Given the description of an element on the screen output the (x, y) to click on. 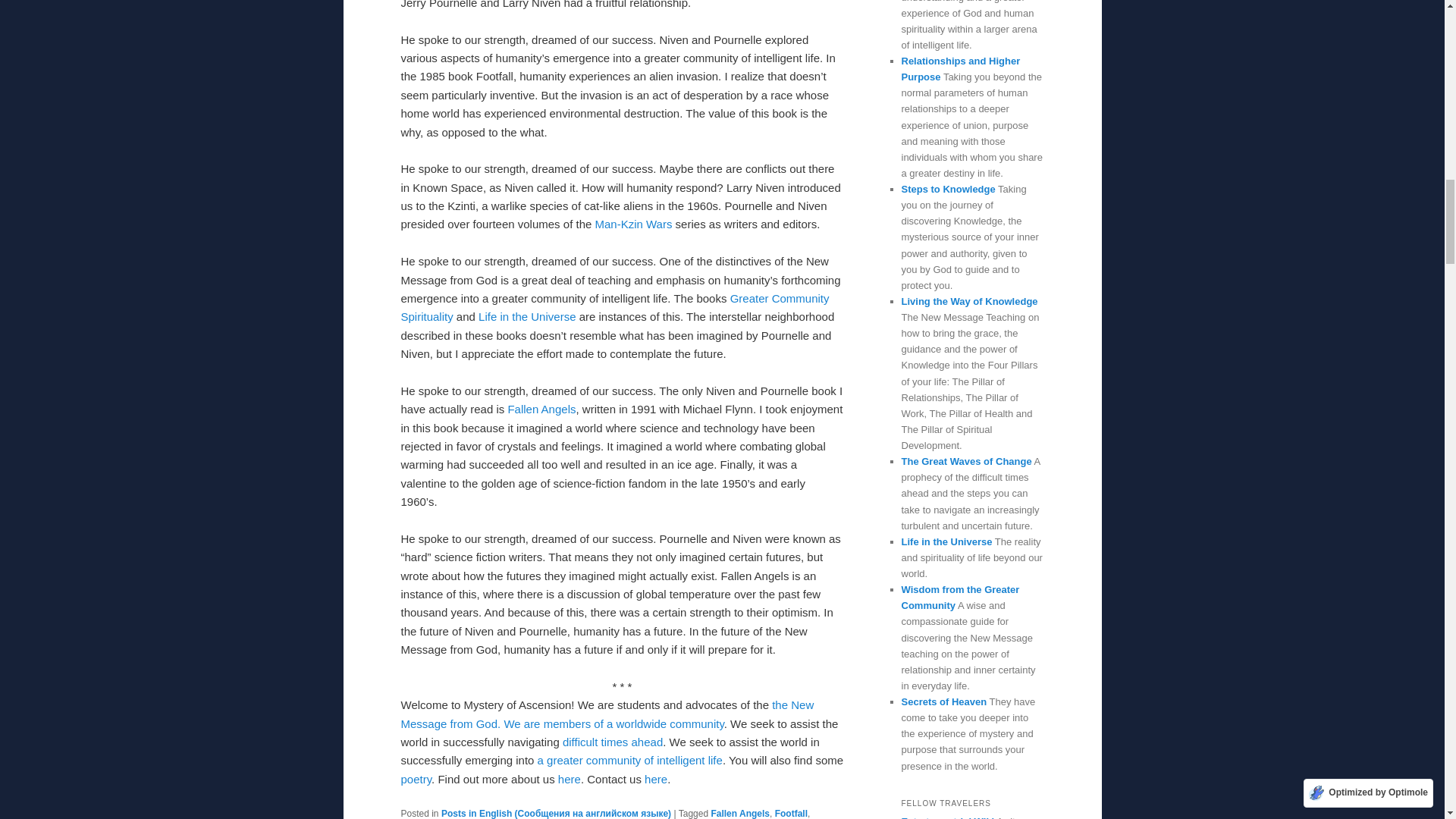
Man-Kzin Wars (632, 223)
Footfall (791, 813)
here (568, 779)
The Great Waves of Change (612, 741)
Fallen Angels (740, 813)
Mystery of Ascension: About (568, 779)
Mystery of Ascension: Contact (655, 779)
a greater community of intelligent life (629, 759)
here (655, 779)
Greater Community Spirituality (614, 306)
Fallen Angels (540, 408)
The New Message from God (606, 713)
poetry (415, 779)
difficult times ahead (612, 741)
the New Message from God. We are members of a (606, 713)
